Given the description of an element on the screen output the (x, y) to click on. 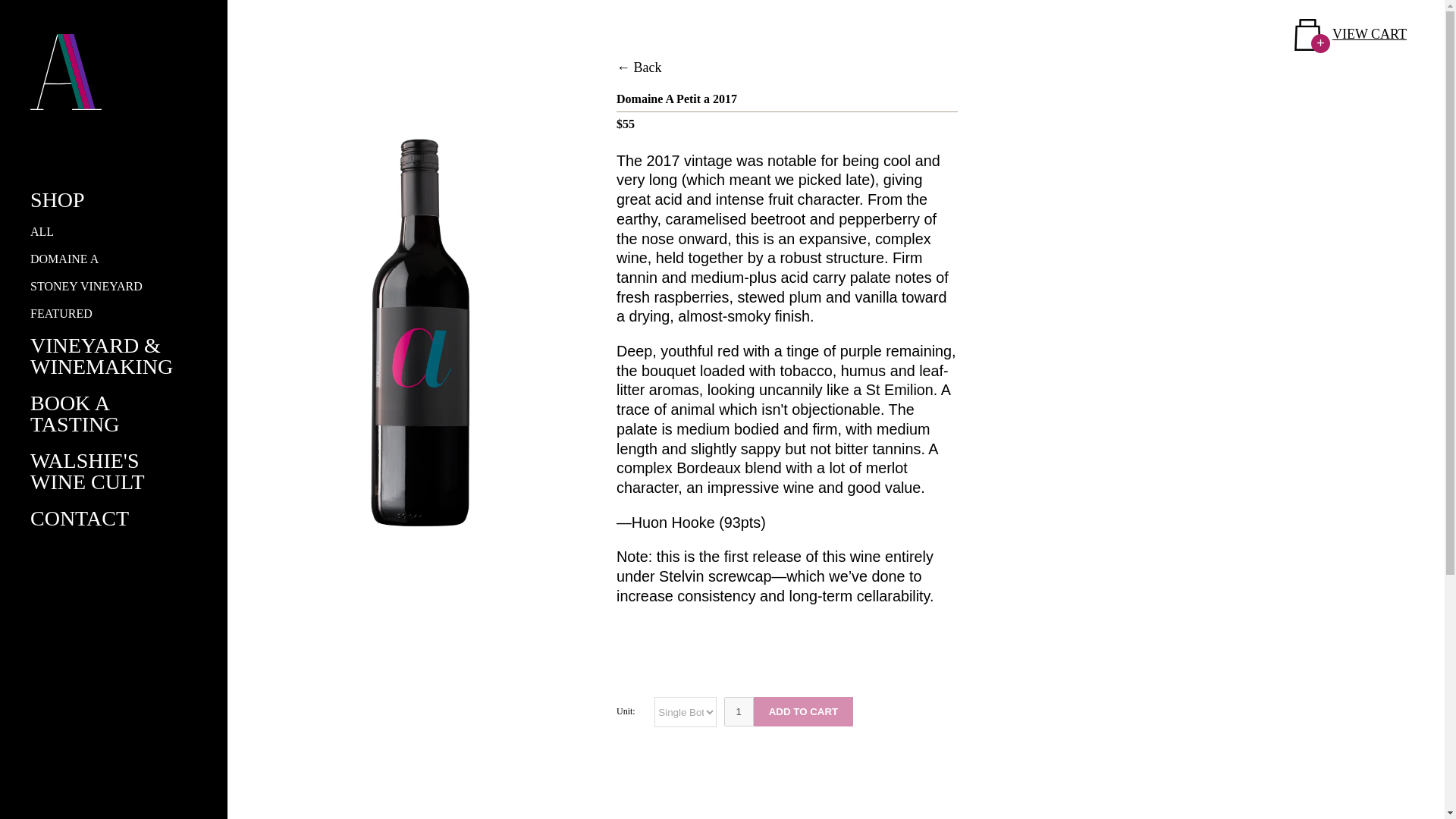
STONEY VINEYARD (86, 286)
ADD TO CART (803, 711)
DOMAINE A (64, 258)
1 (738, 711)
CONTACT (79, 517)
FEATURED (61, 313)
WALSHIE'S WINE CULT (87, 470)
ALL (41, 231)
BOOK A TASTING (74, 413)
SHOP (57, 199)
